Given the description of an element on the screen output the (x, y) to click on. 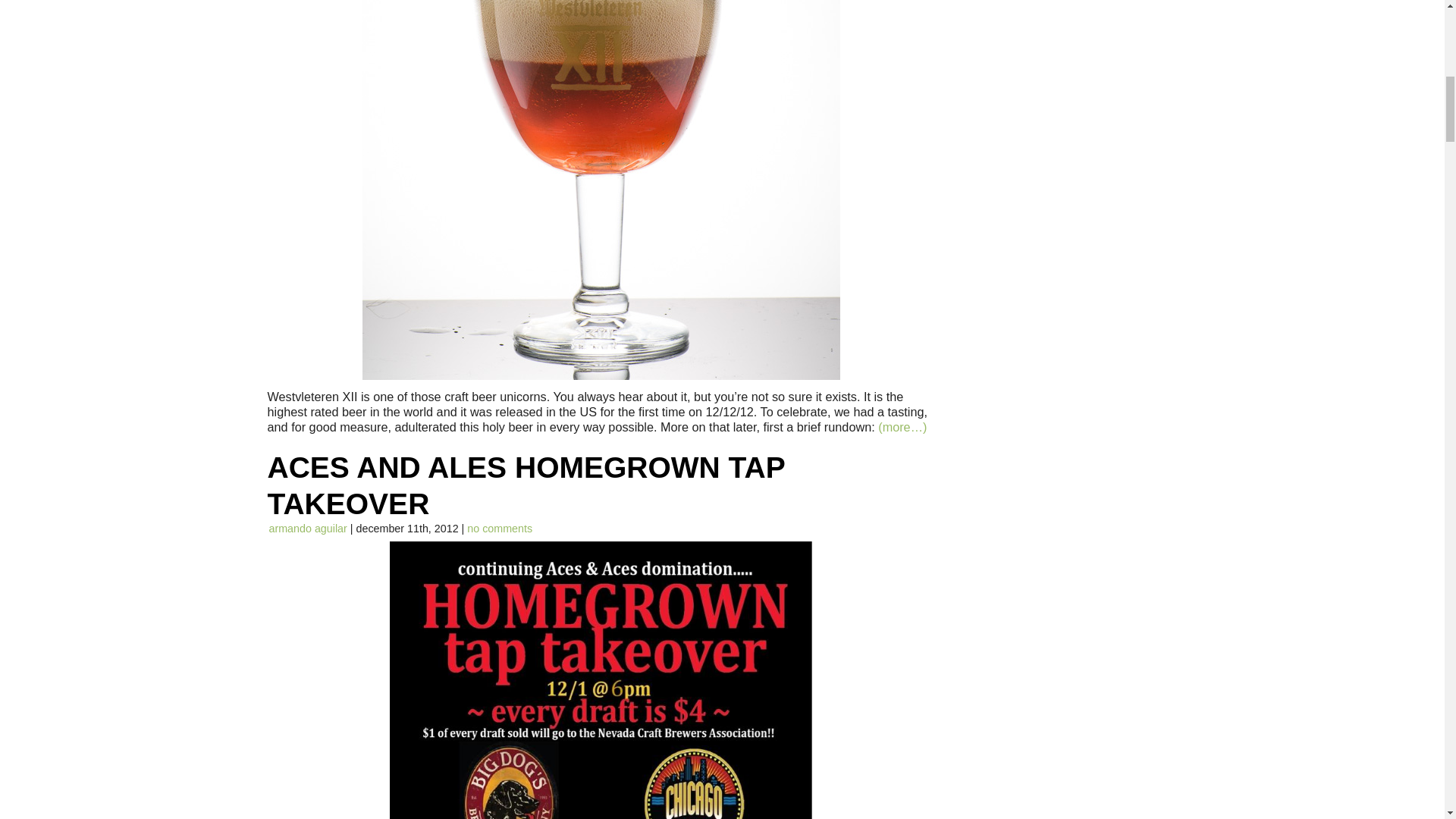
no comments (499, 529)
ACES AND ALES HOMEGROWN TAP TAKEOVER (525, 485)
Permanent Link to Aces and Ales Homegrown Tap Takeover (525, 485)
Homegrown Tap Takeover (601, 680)
Posts by Armando Aguilar (306, 529)
armando aguilar (306, 529)
